Given the description of an element on the screen output the (x, y) to click on. 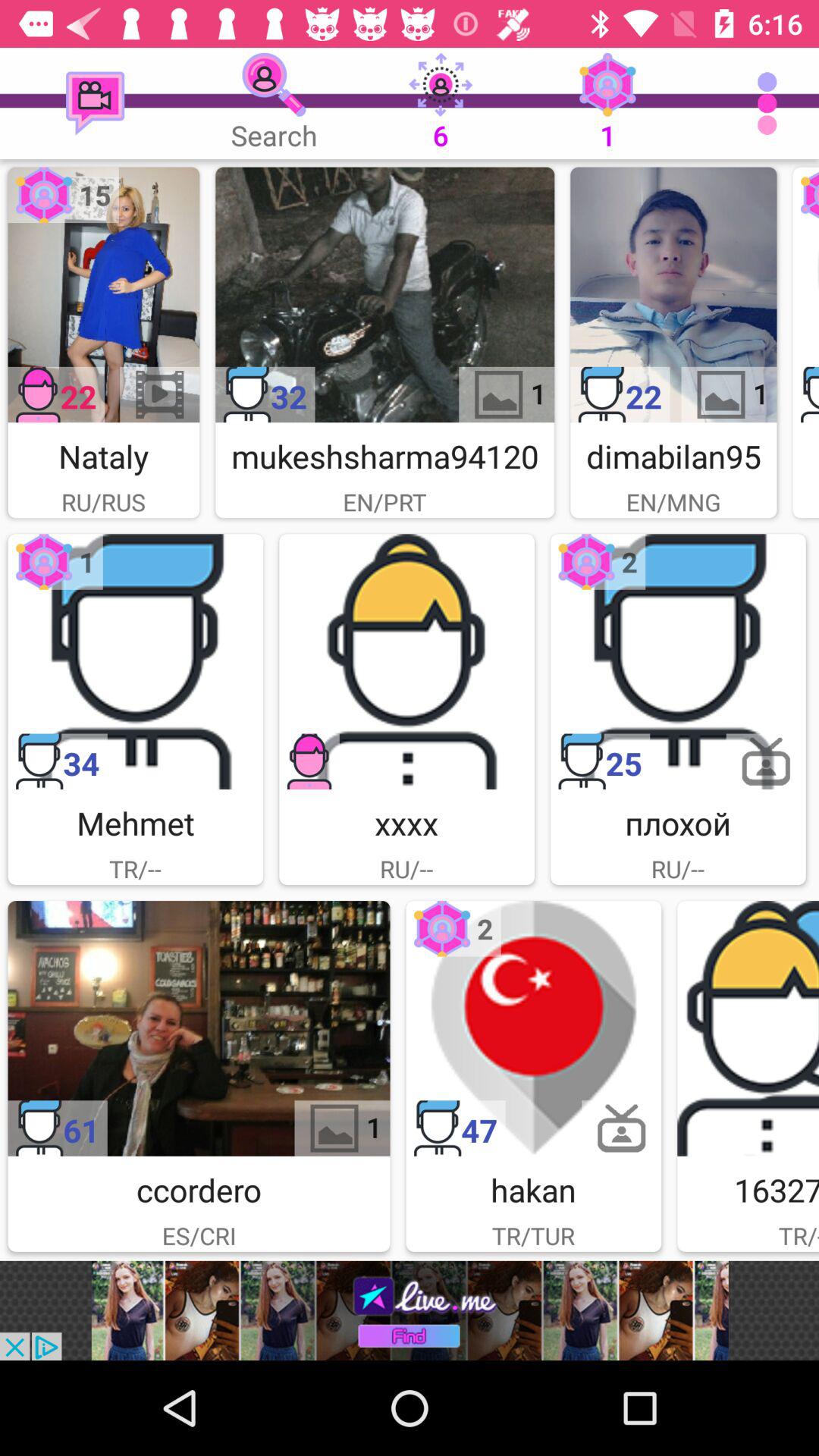
select item (533, 1028)
